Given the description of an element on the screen output the (x, y) to click on. 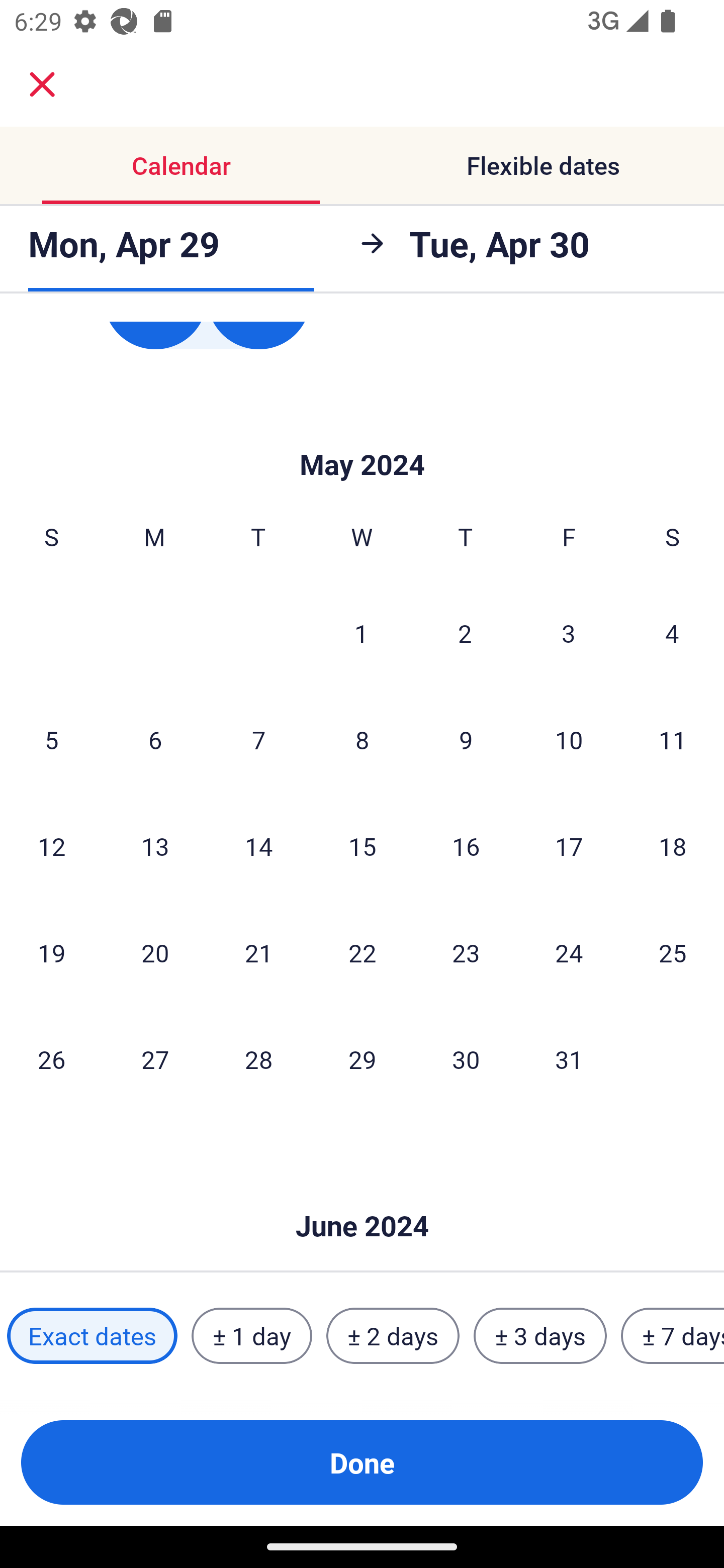
close. (42, 84)
Flexible dates (542, 164)
Skip to Done (362, 434)
1 Wednesday, May 1, 2024 (361, 633)
2 Thursday, May 2, 2024 (464, 633)
3 Friday, May 3, 2024 (568, 633)
4 Saturday, May 4, 2024 (672, 633)
5 Sunday, May 5, 2024 (51, 739)
6 Monday, May 6, 2024 (155, 739)
7 Tuesday, May 7, 2024 (258, 739)
8 Wednesday, May 8, 2024 (362, 739)
9 Thursday, May 9, 2024 (465, 739)
10 Friday, May 10, 2024 (569, 739)
11 Saturday, May 11, 2024 (672, 739)
12 Sunday, May 12, 2024 (51, 845)
13 Monday, May 13, 2024 (155, 845)
14 Tuesday, May 14, 2024 (258, 845)
15 Wednesday, May 15, 2024 (362, 845)
16 Thursday, May 16, 2024 (465, 845)
17 Friday, May 17, 2024 (569, 845)
18 Saturday, May 18, 2024 (672, 845)
19 Sunday, May 19, 2024 (51, 952)
20 Monday, May 20, 2024 (155, 952)
21 Tuesday, May 21, 2024 (258, 952)
22 Wednesday, May 22, 2024 (362, 952)
23 Thursday, May 23, 2024 (465, 952)
24 Friday, May 24, 2024 (569, 952)
25 Saturday, May 25, 2024 (672, 952)
26 Sunday, May 26, 2024 (51, 1059)
27 Monday, May 27, 2024 (155, 1059)
28 Tuesday, May 28, 2024 (258, 1059)
29 Wednesday, May 29, 2024 (362, 1059)
30 Thursday, May 30, 2024 (465, 1059)
31 Friday, May 31, 2024 (569, 1059)
Skip to Done (362, 1196)
Exact dates (92, 1335)
± 1 day (251, 1335)
± 2 days (392, 1335)
± 3 days (539, 1335)
± 7 days (672, 1335)
Done (361, 1462)
